Given the description of an element on the screen output the (x, y) to click on. 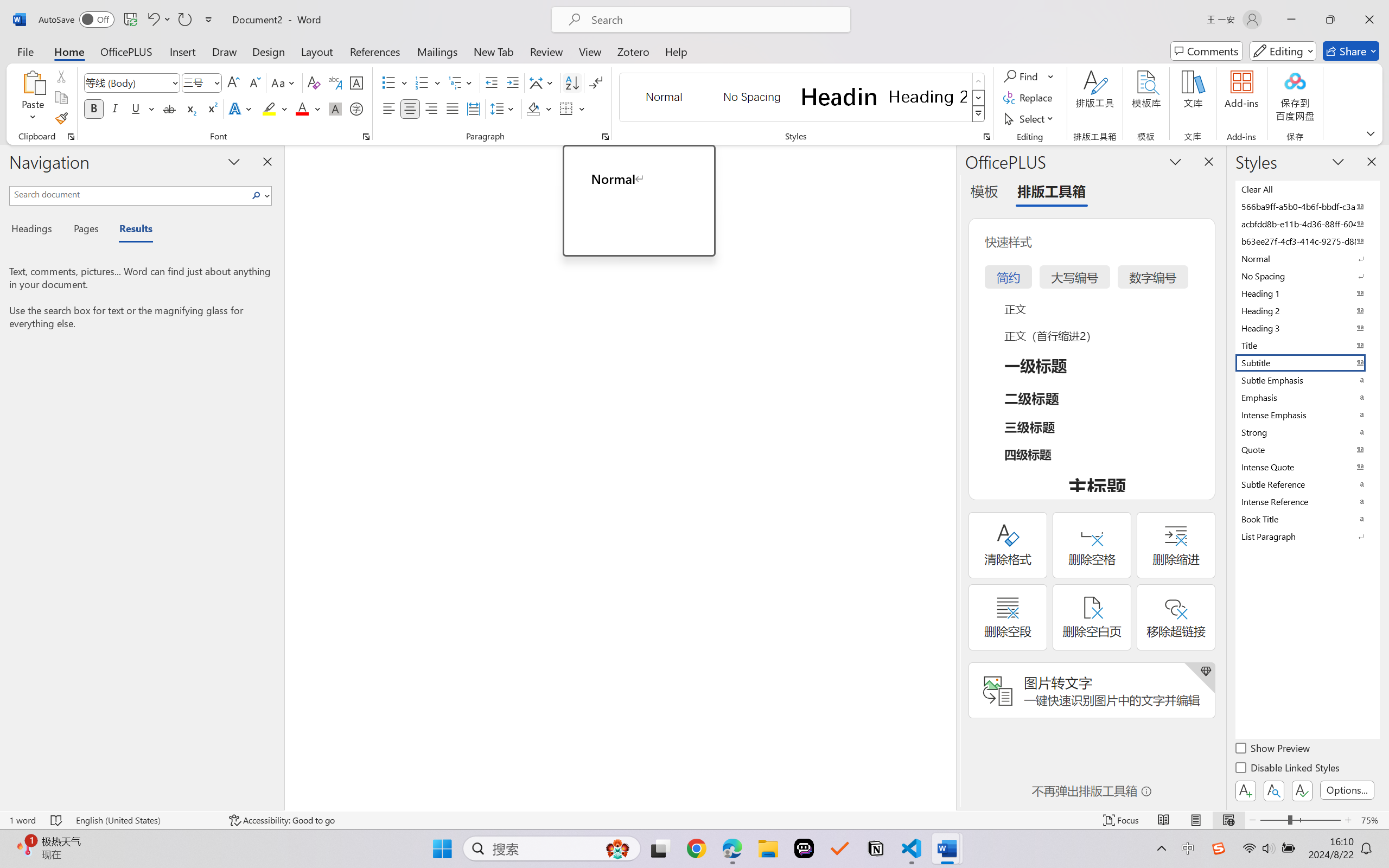
Undo Style (158, 19)
Row up (978, 81)
Home (69, 51)
Ribbon Display Options (1370, 132)
Office Clipboard... (70, 136)
Class: NetUIImage (978, 114)
Font... (365, 136)
Class: MsoCommandBar (694, 819)
Grow Font (233, 82)
Align Left (388, 108)
Intense Reference (1306, 501)
